Given the description of an element on the screen output the (x, y) to click on. 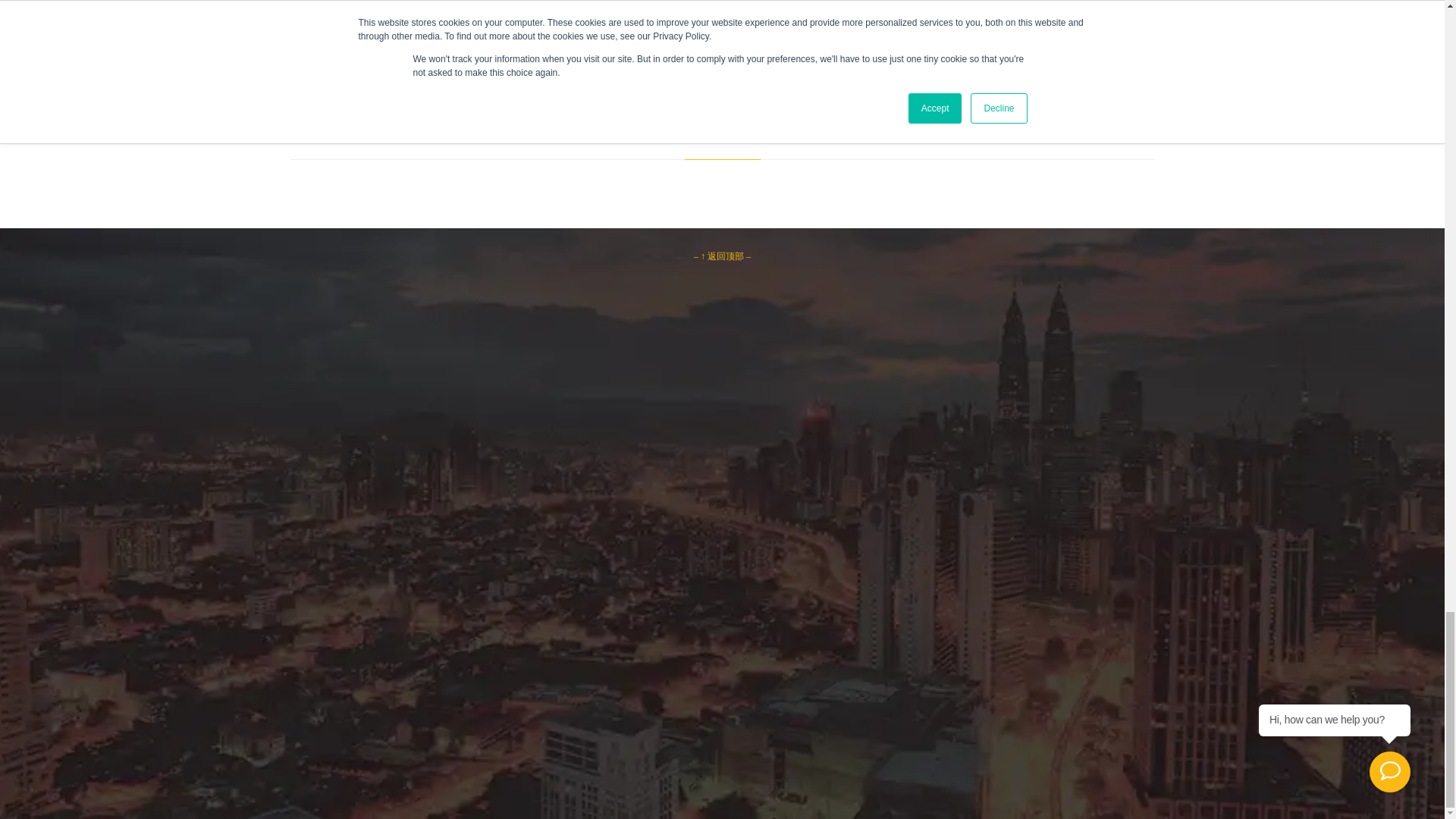
Share on Twitter (598, 2)
Share on Facebook (533, 2)
Share on Google Plus (663, 2)
